Given the description of an element on the screen output the (x, y) to click on. 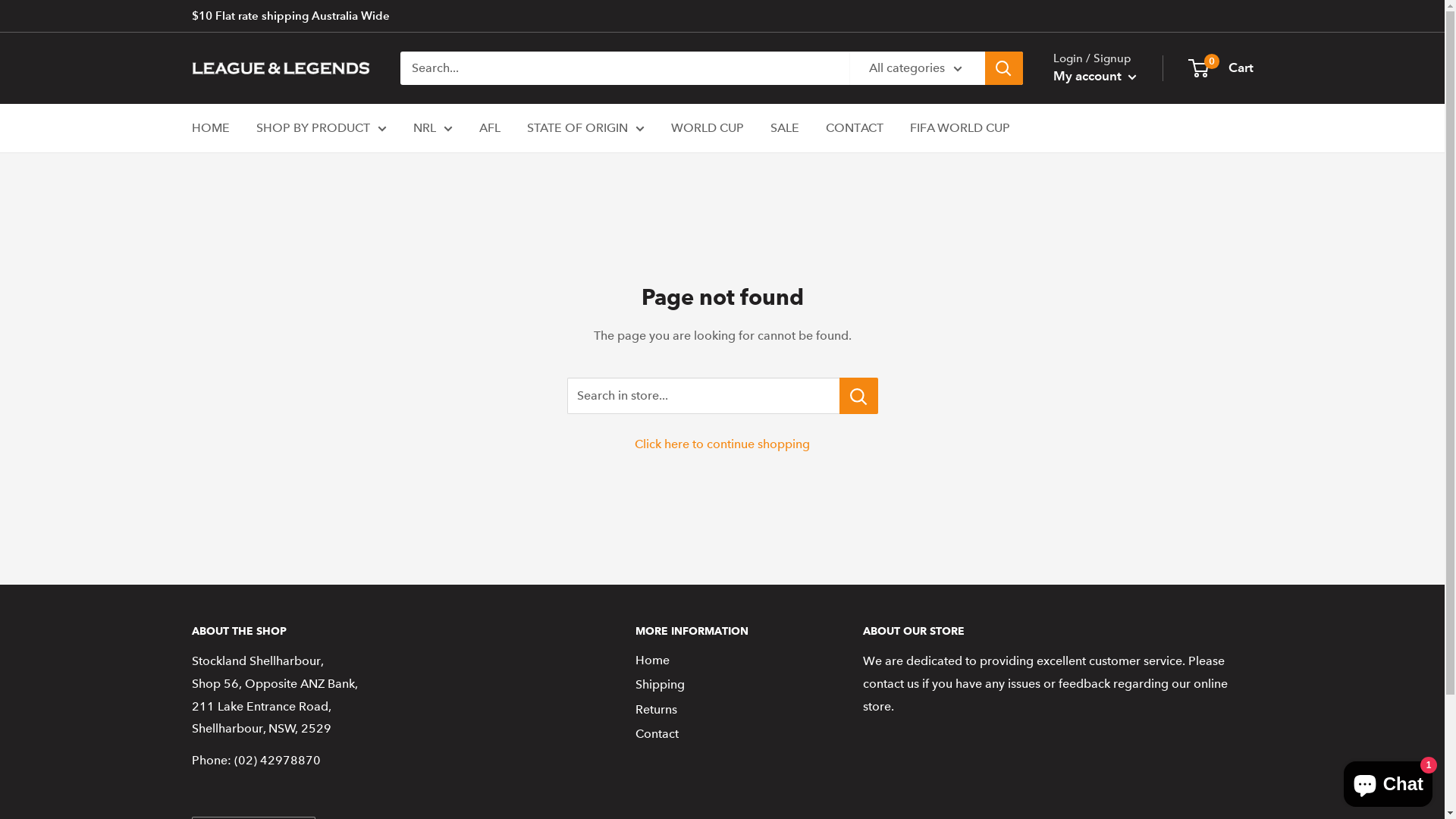
Home Element type: text (722, 660)
CONTACT Element type: text (853, 127)
NRL Element type: text (431, 127)
FI Element type: text (227, 751)
SHOP BY PRODUCT Element type: text (321, 127)
AFL Element type: text (489, 127)
FIFA WORLD CUP Element type: text (960, 127)
FJ Element type: text (227, 731)
FR Element type: text (227, 771)
ABOUT THE SHOP Element type: text (386, 631)
HOME Element type: text (210, 127)
My account Element type: text (1093, 76)
AU Element type: text (227, 610)
BE Element type: text (227, 651)
STATE OF ORIGIN Element type: text (584, 127)
Contact Element type: text (722, 733)
Shipping Element type: text (722, 684)
DK Element type: text (227, 711)
League and Legends Element type: text (280, 67)
WORLD CUP Element type: text (706, 127)
ABOUT OUR STORE Element type: text (1057, 631)
Shopify online store chat Element type: hover (1388, 780)
Click here to continue shopping Element type: text (721, 443)
DE Element type: text (227, 792)
0
Cart Element type: text (1220, 68)
CZ Element type: text (227, 691)
AT Element type: text (227, 631)
MORE INFORMATION Element type: text (722, 631)
Returns Element type: text (722, 709)
SALE Element type: text (784, 127)
CA Element type: text (227, 671)
